Given the description of an element on the screen output the (x, y) to click on. 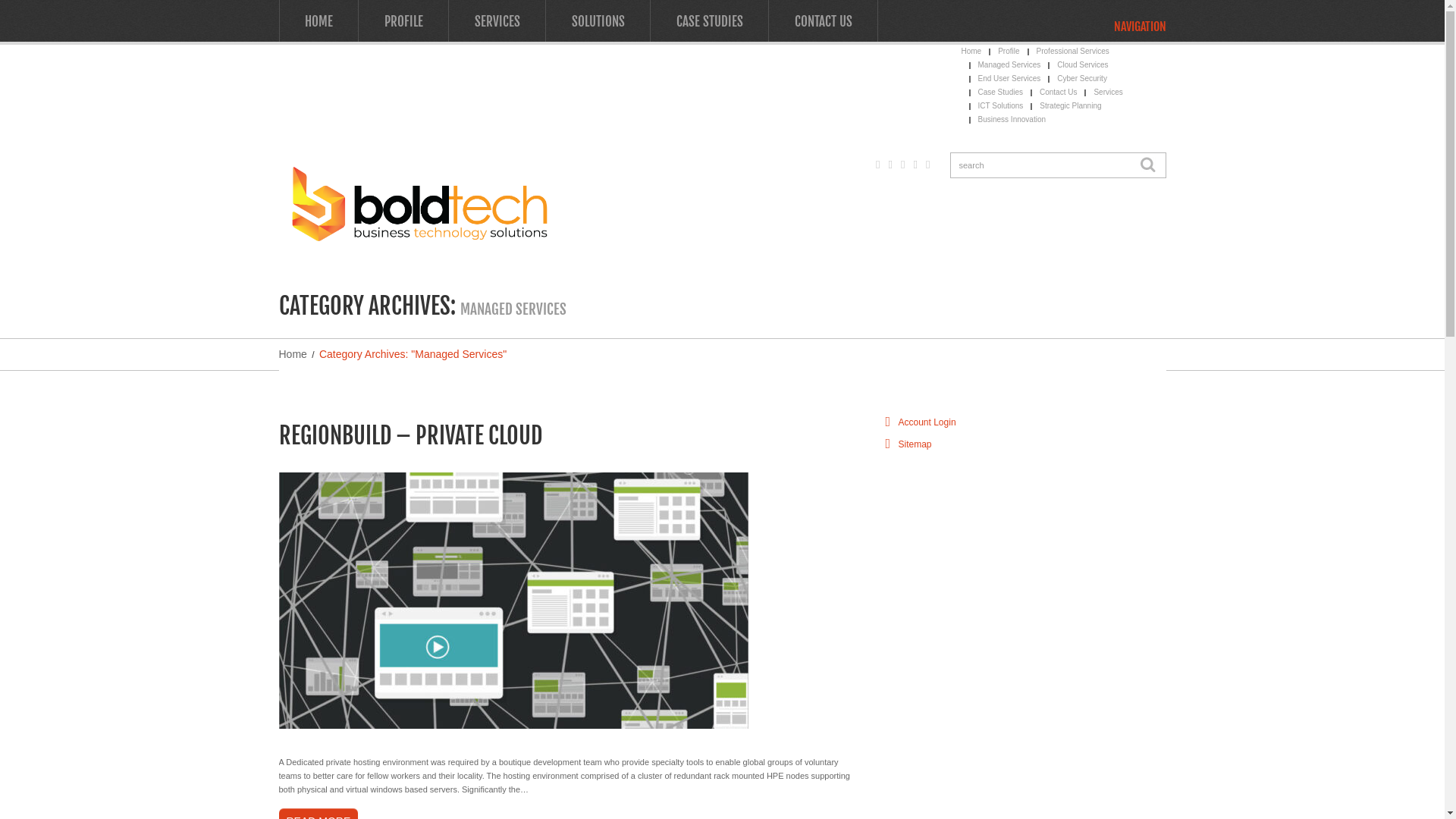
Home Element type: text (293, 354)
facebook Element type: hover (902, 163)
Strategic Planning Element type: text (1070, 105)
Cloud Services Element type: text (1082, 64)
PROFILE Element type: text (402, 20)
Managed Services Element type: text (1009, 64)
End User Services Element type: text (1009, 78)
CONTACT US Element type: text (822, 20)
Case Studies Element type: text (1000, 91)
google Element type: hover (877, 163)
Sitemap Element type: text (914, 444)
ICT Solutions Element type: text (1000, 105)
SOLUTIONS Element type: text (597, 20)
Contact Us Element type: text (1057, 91)
Professional Services Element type: text (1072, 51)
Home Element type: text (971, 51)
HOME Element type: text (318, 20)
pinterest Element type: hover (915, 163)
Account Login Element type: text (926, 422)
Cyber Security Element type: text (1082, 78)
twitter Element type: hover (890, 163)
SERVICES Element type: text (496, 20)
Go Element type: text (1146, 165)
Profile Element type: text (1008, 51)
Business Innovation Element type: text (1012, 119)
Services Element type: text (1107, 91)
business technology solutions Element type: hover (418, 203)
linkedin Element type: hover (927, 163)
CASE STUDIES Element type: text (709, 20)
